Given the description of an element on the screen output the (x, y) to click on. 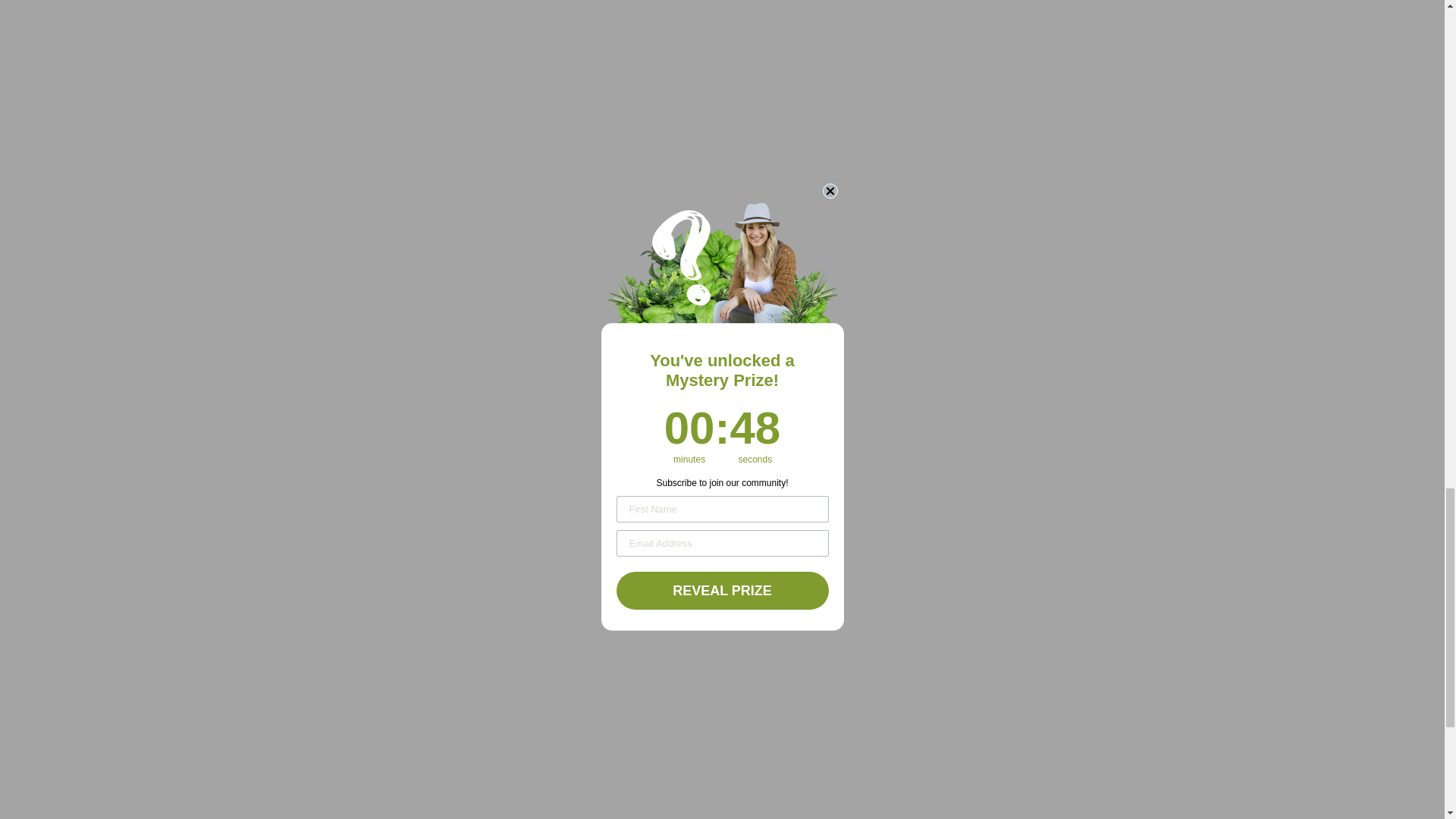
1 (682, 141)
